Given the description of an element on the screen output the (x, y) to click on. 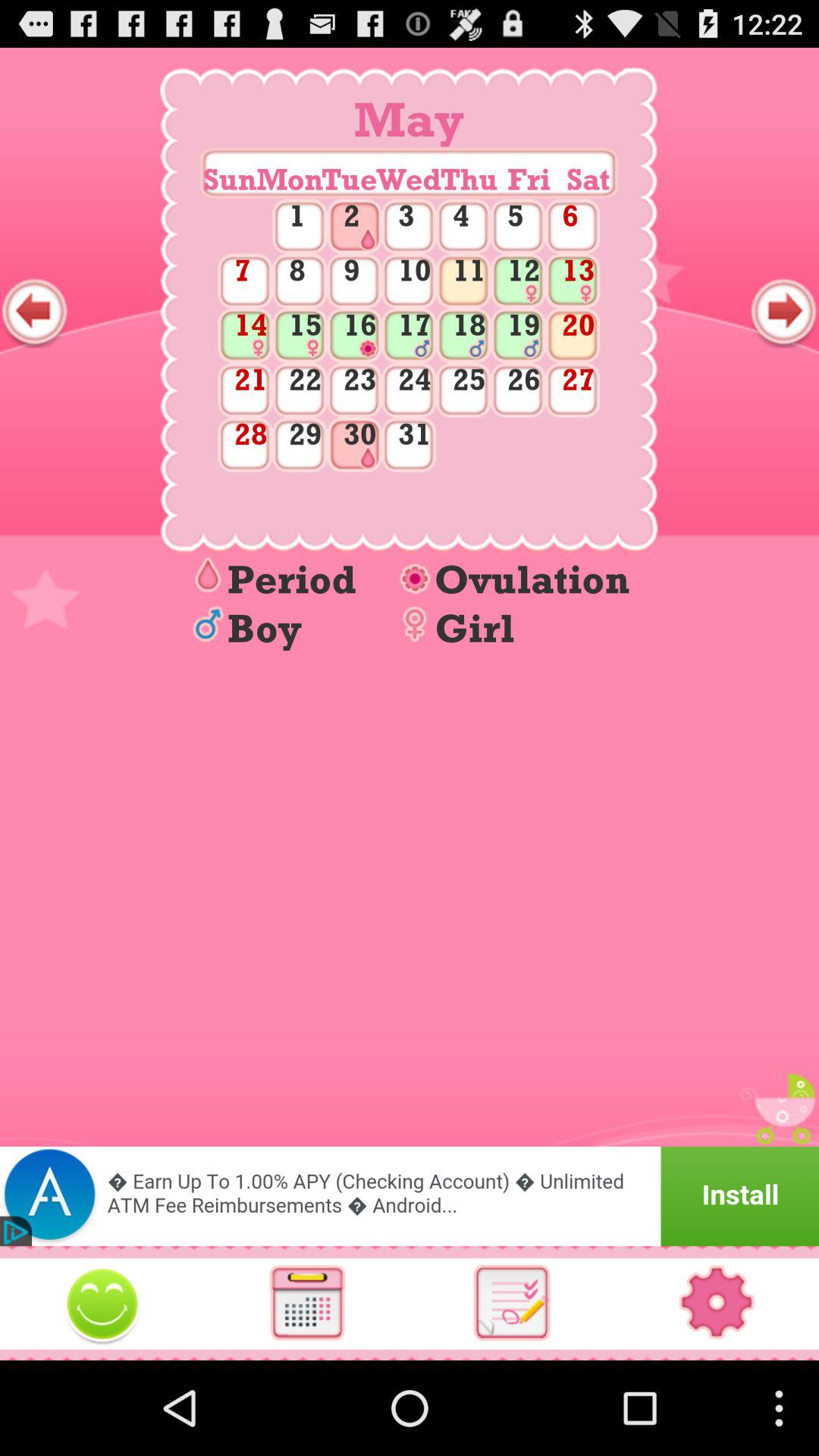
the image are good (102, 1302)
